Given the description of an element on the screen output the (x, y) to click on. 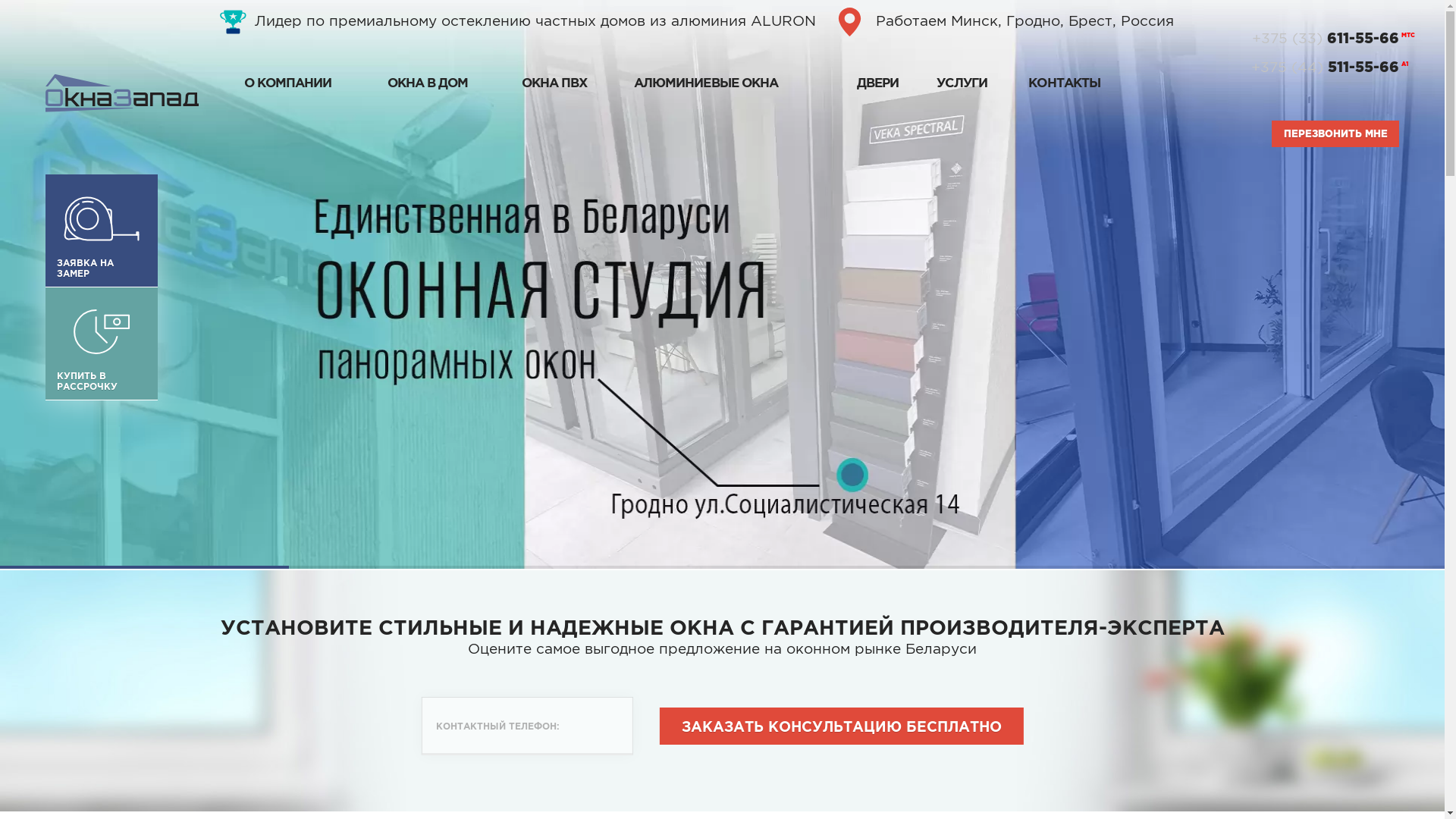
+375 (44) 511-55-66
A1 Element type: text (1297, 66)
